Given the description of an element on the screen output the (x, y) to click on. 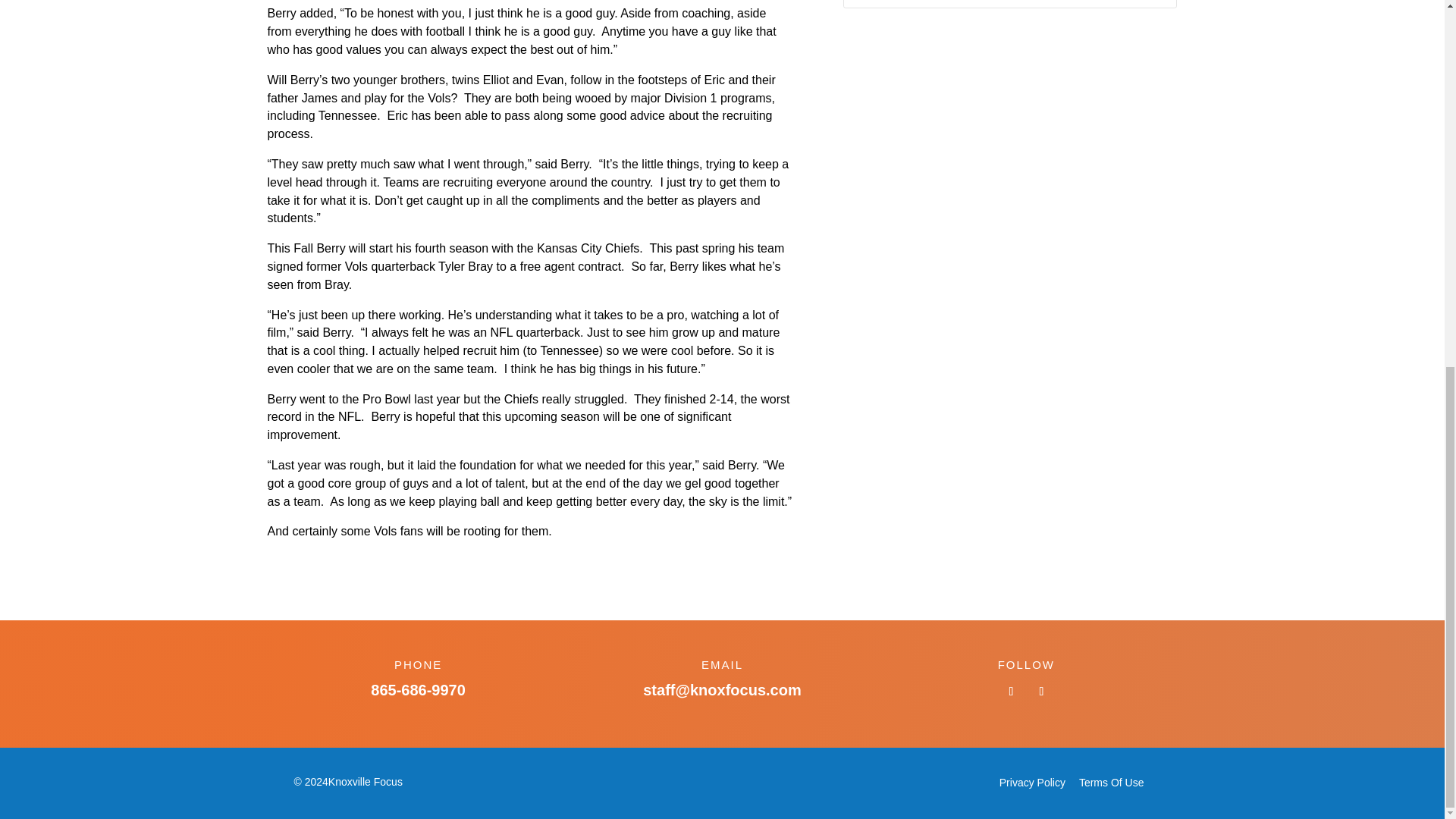
Follow on X (1040, 691)
Follow on Facebook (1010, 691)
